Given the description of an element on the screen output the (x, y) to click on. 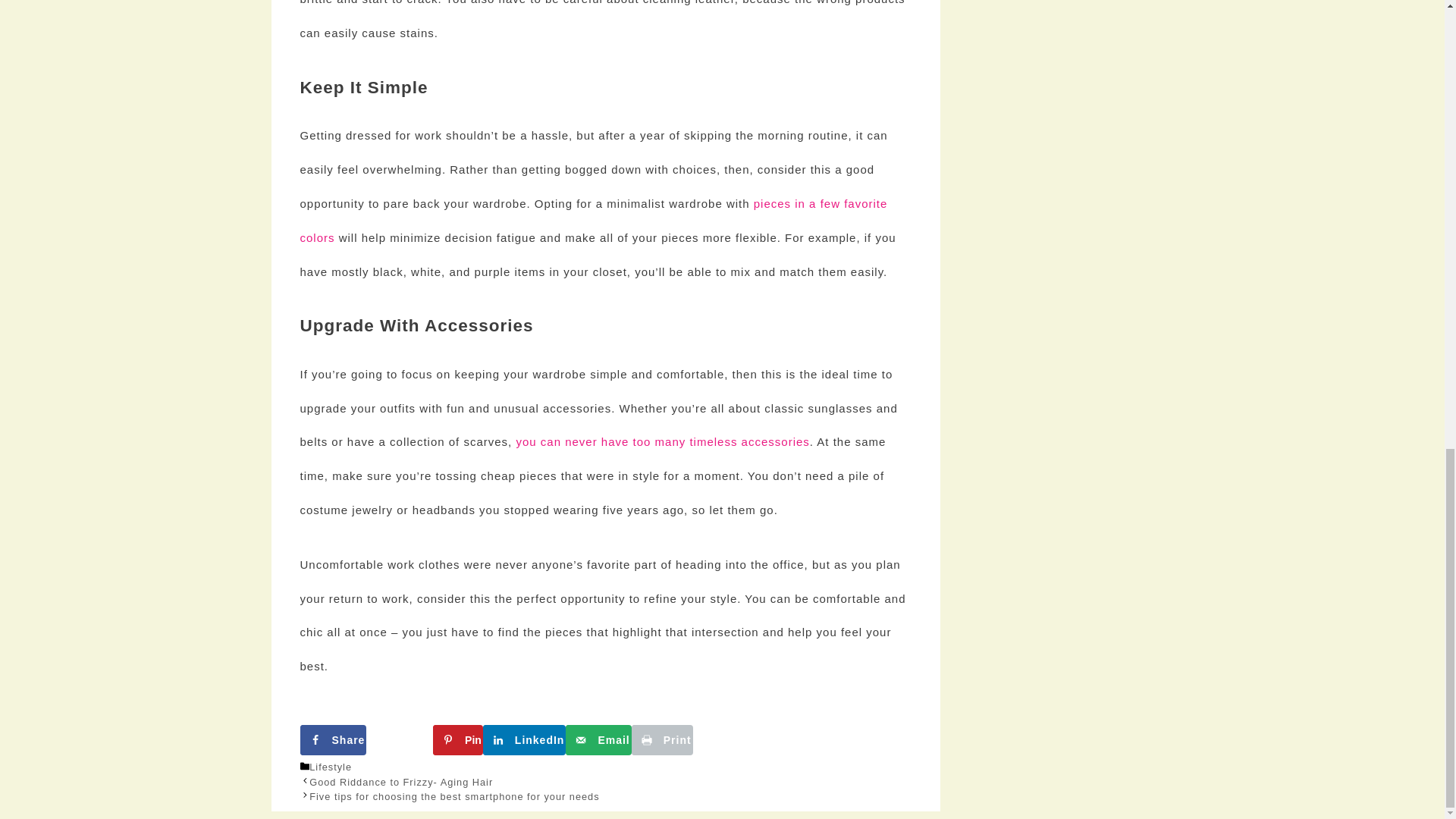
Share on X (605, 398)
Share on Facebook (397, 398)
Share on LinkedIn (397, 435)
Send over email (605, 435)
Print this webpage (813, 435)
Save to Pinterest (813, 398)
